Given the description of an element on the screen output the (x, y) to click on. 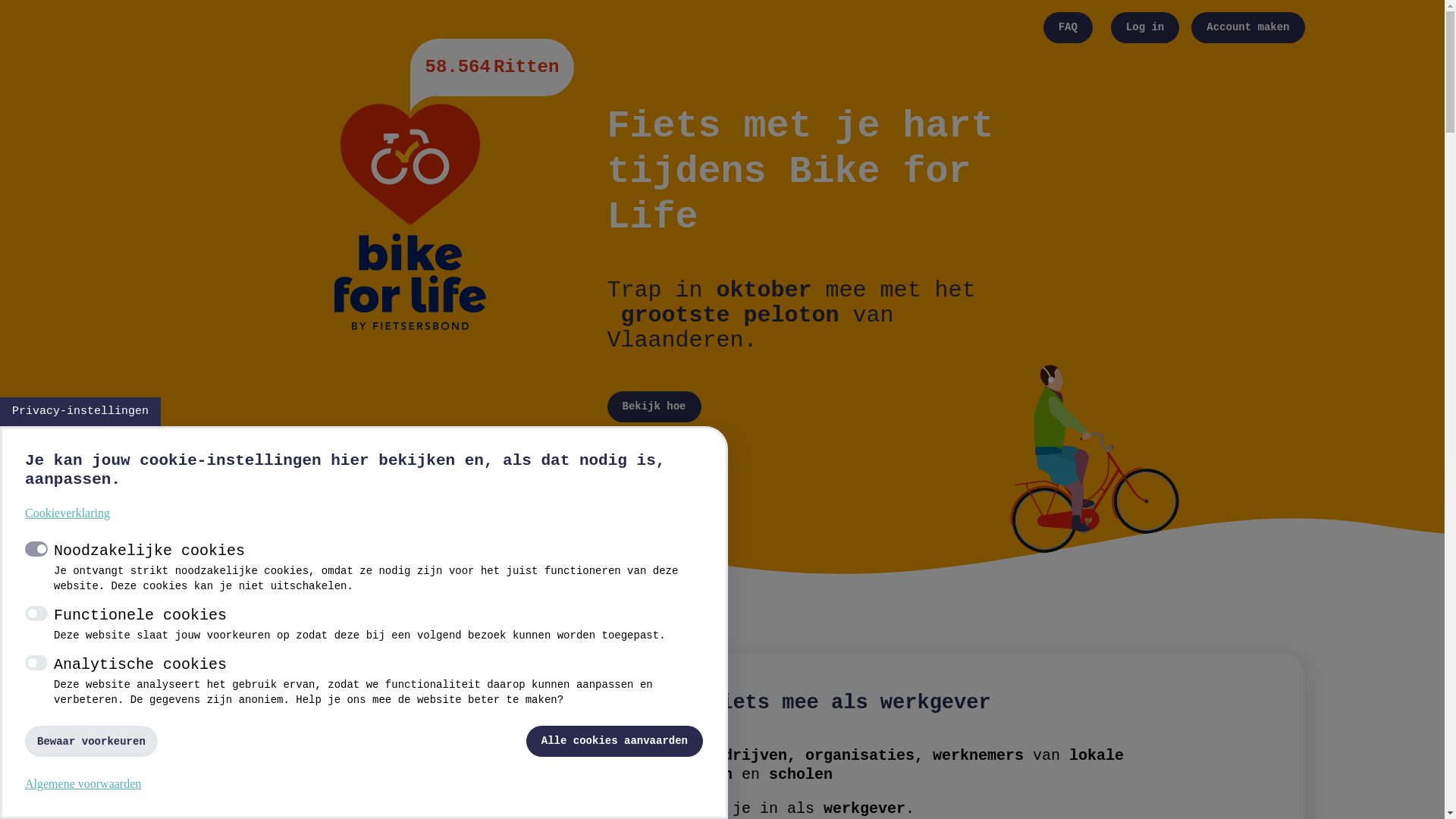
Log in Element type: text (1144, 27)
Privacy-instellingen Element type: text (80, 411)
Alle cookies aanvaarden Element type: text (614, 740)
Account maken Element type: text (1247, 27)
Cookieverklaring Element type: text (67, 512)
FAQ Element type: text (1067, 27)
Bewaar voorkeuren Element type: text (91, 740)
Schrijf in! Element type: text (215, 793)
Schrijf in! Element type: text (215, 795)
Bekijk hoe Element type: text (653, 406)
Algemene voorwaarden Element type: text (83, 783)
